Given the description of an element on the screen output the (x, y) to click on. 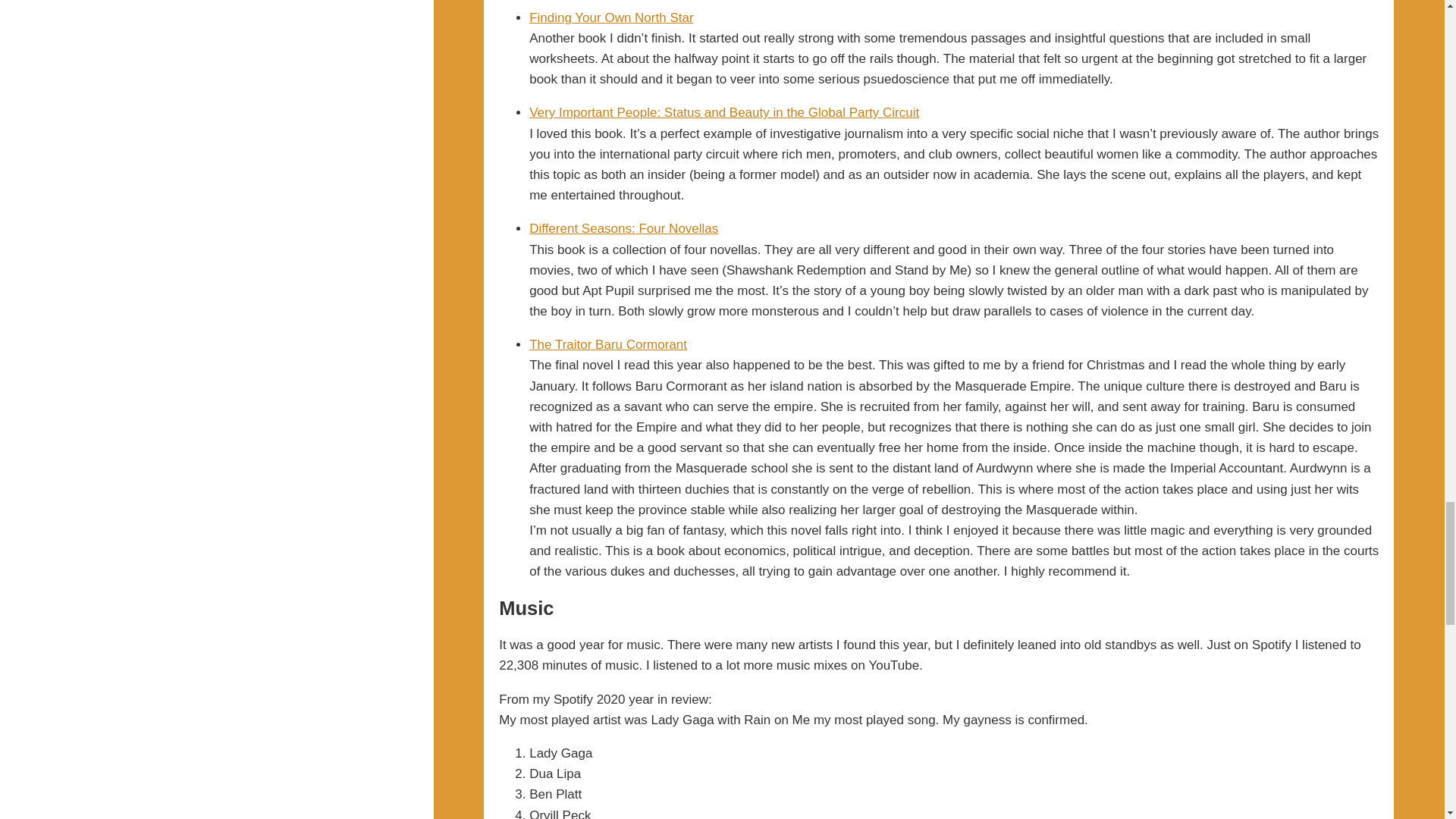
Finding Your Own North Star (611, 17)
Different Seasons: Four Novellas (623, 228)
The Traitor Baru Cormorant (608, 344)
